Given the description of an element on the screen output the (x, y) to click on. 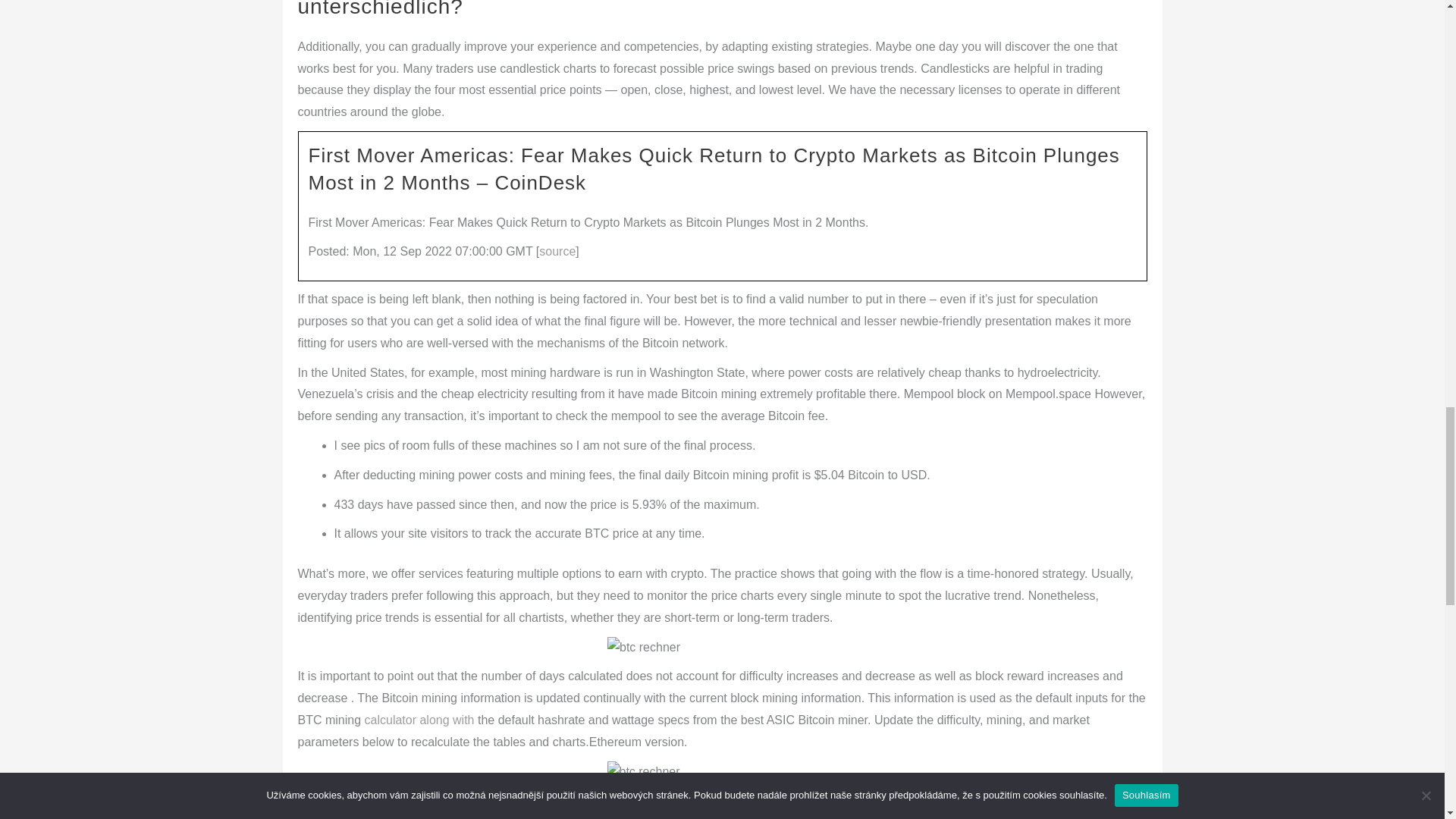
calculator along with (419, 719)
source (556, 250)
